Given the description of an element on the screen output the (x, y) to click on. 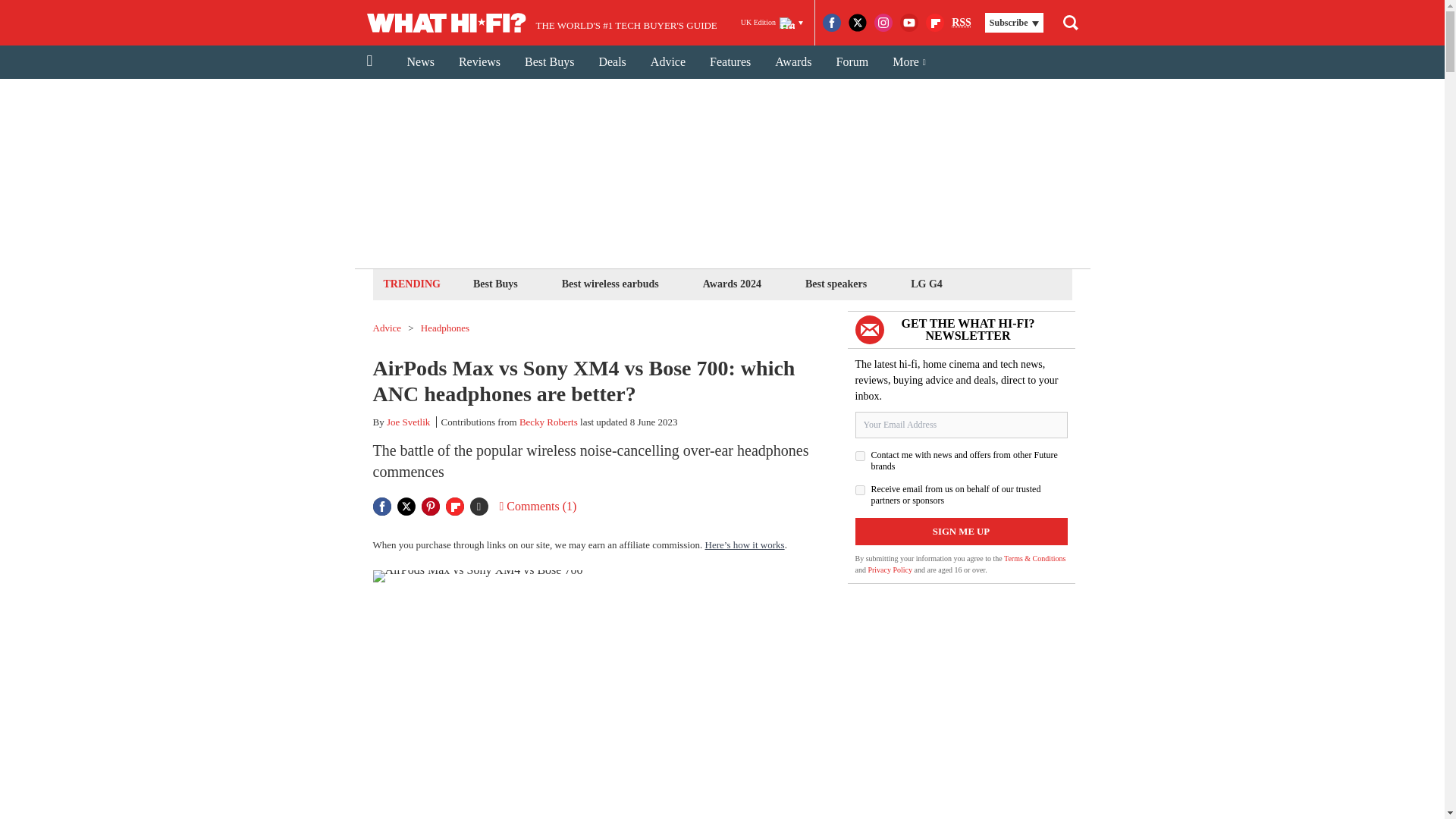
Forum (852, 61)
Headphones (444, 327)
Features (729, 61)
UK Edition (771, 22)
Advice (386, 327)
Advice (668, 61)
LG G4 (926, 283)
Reviews (479, 61)
on (860, 490)
Joe Svetlik (408, 421)
